Given the description of an element on the screen output the (x, y) to click on. 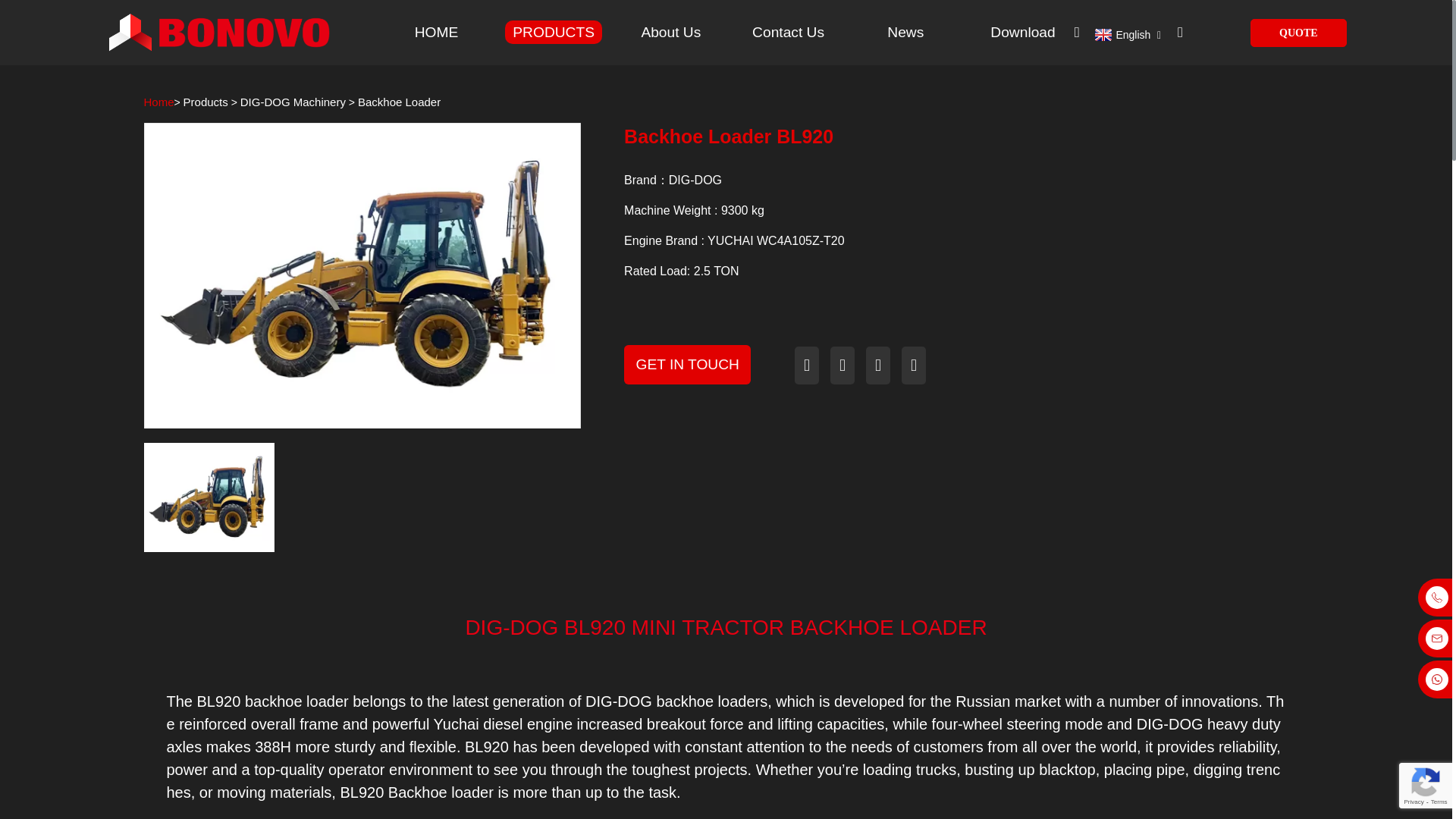
PRODUCTS (553, 32)
About Us (671, 32)
HOME (436, 32)
